Given the description of an element on the screen output the (x, y) to click on. 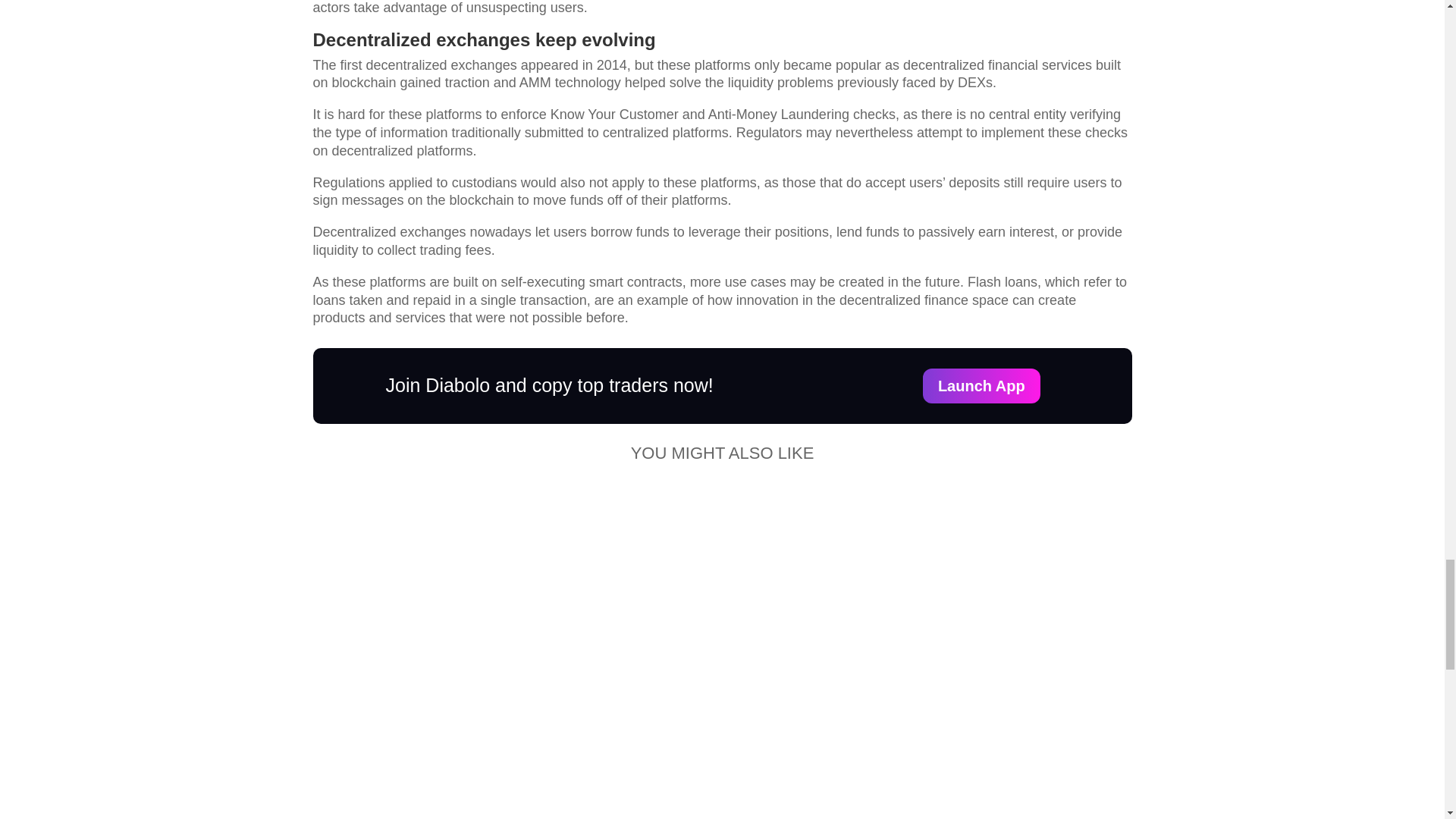
Launch App (982, 385)
